Given the description of an element on the screen output the (x, y) to click on. 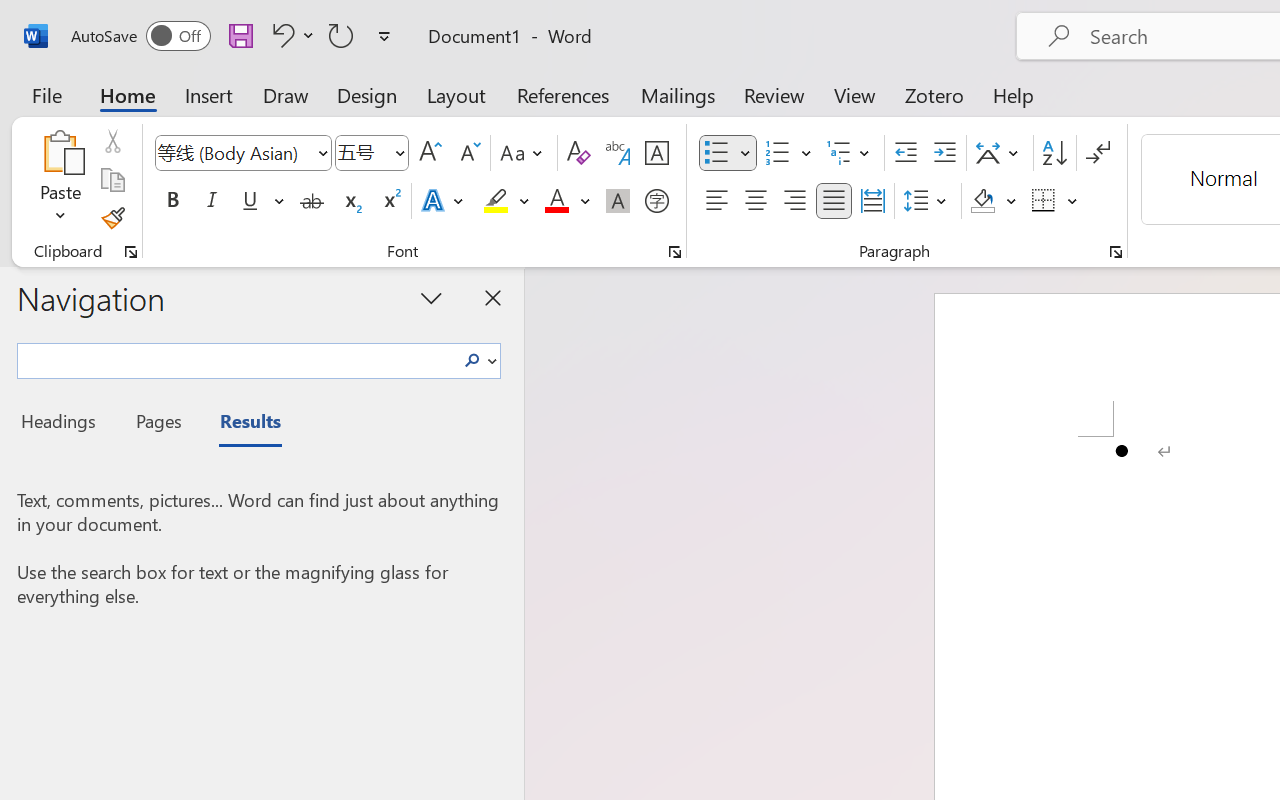
Undo Bullet Default (290, 35)
